Given the description of an element on the screen output the (x, y) to click on. 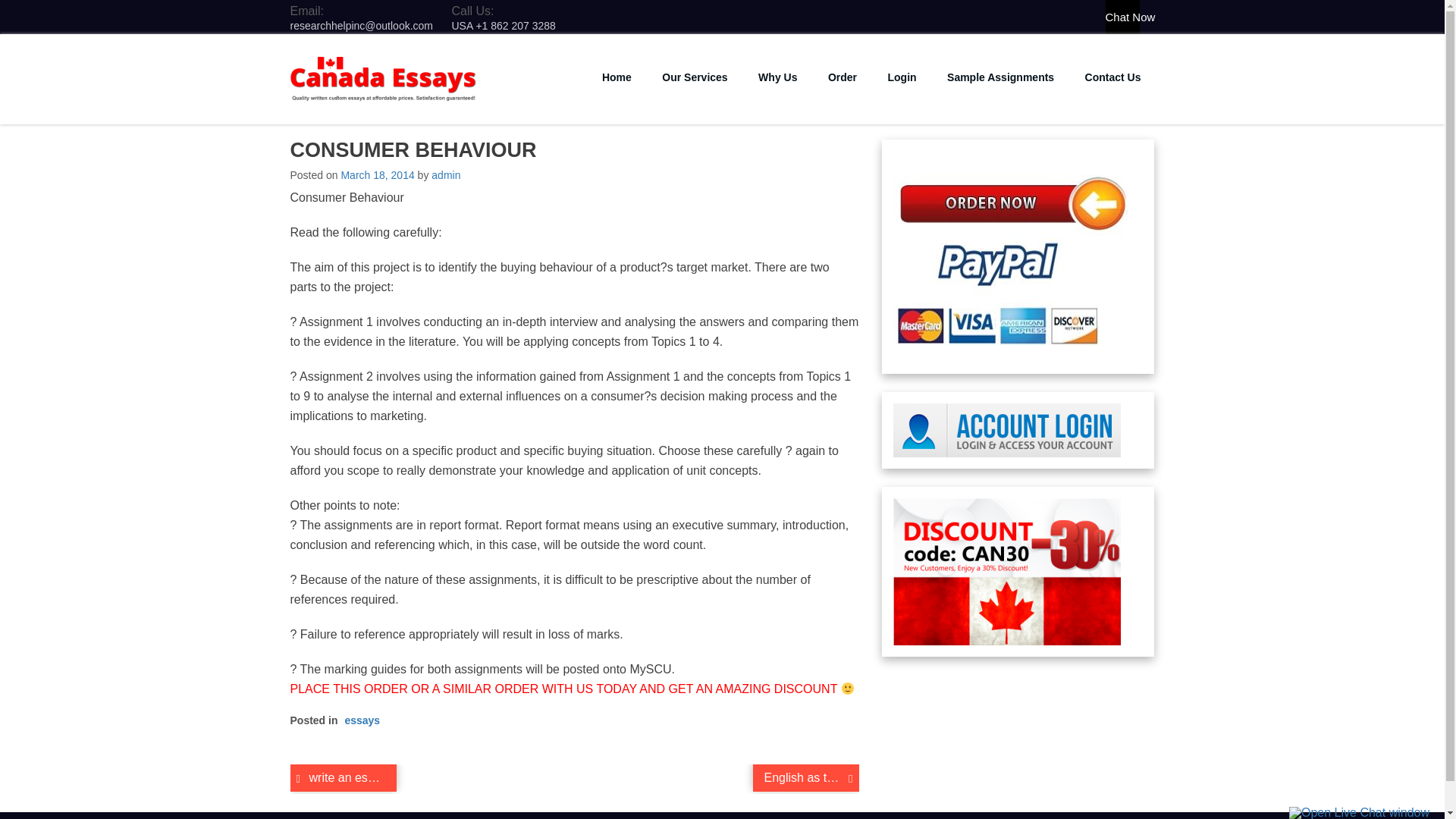
admin (445, 174)
Chat Now (1122, 17)
English as the official company language (805, 777)
March 18, 2014 (376, 174)
Solutions by our experts (1000, 77)
Canada Essays (373, 112)
Sample Assignments (1000, 77)
Contact Us (1112, 77)
Our Services (694, 77)
